Given the description of an element on the screen output the (x, y) to click on. 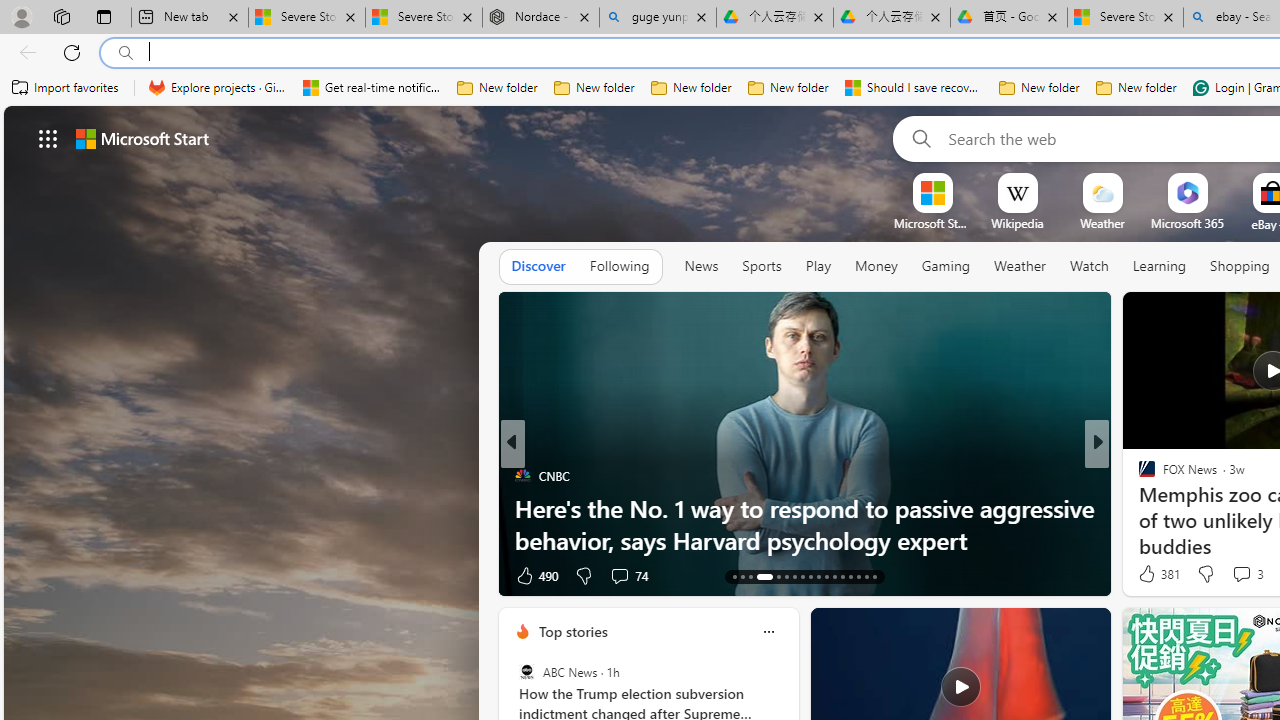
AutomationID: tab-19 (793, 576)
Play (818, 267)
View comments 4 Comment (1234, 575)
Time (1138, 475)
AutomationID: tab-24 (833, 576)
Class: control (47, 138)
43 Like (1149, 574)
AutomationID: tab-25 (842, 576)
CNN Money (1138, 475)
View comments 4 Comment (1241, 574)
